Given the description of an element on the screen output the (x, y) to click on. 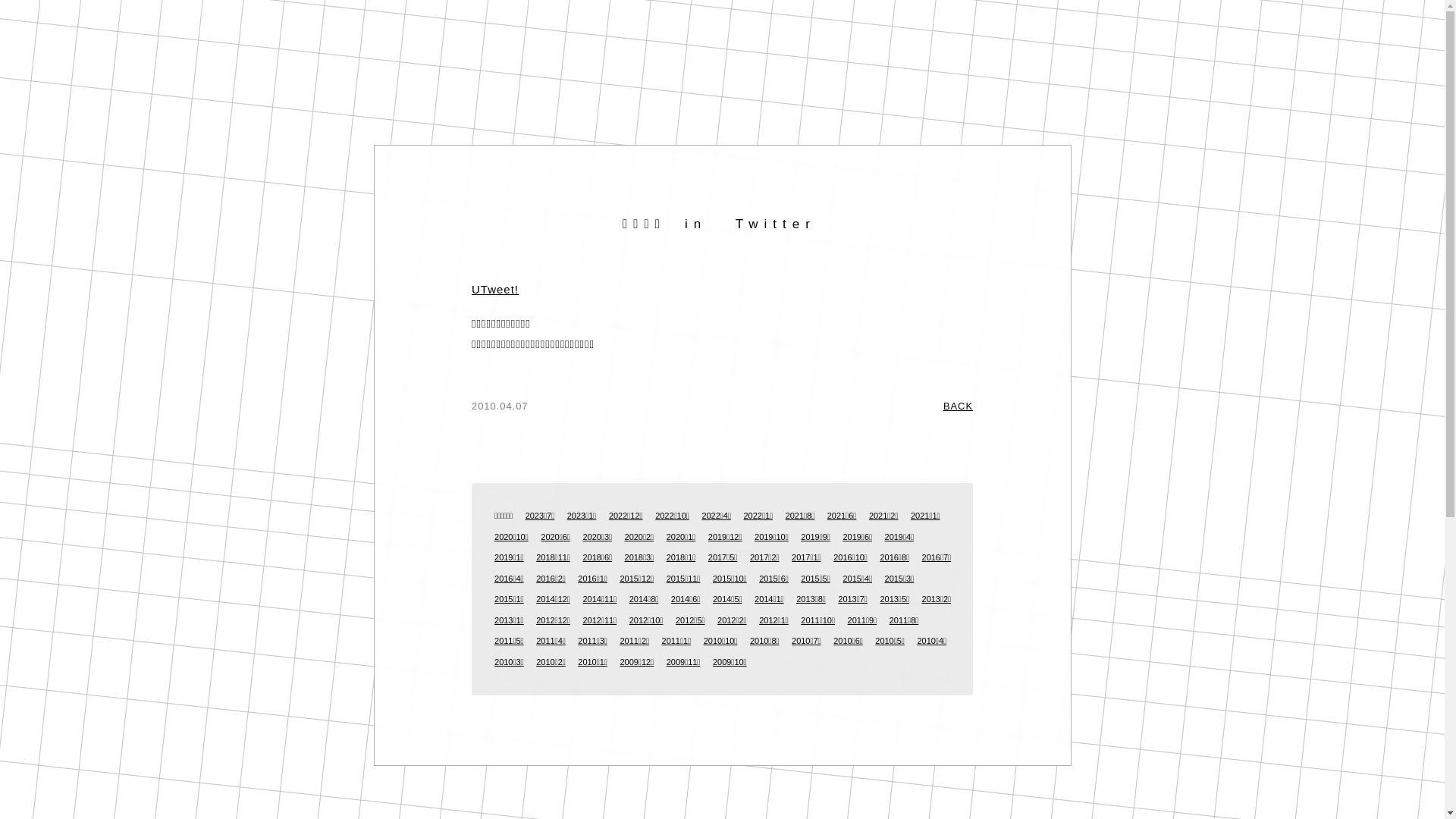
UTweet! Element type: text (494, 288)
BACK Element type: text (957, 405)
